Given the description of an element on the screen output the (x, y) to click on. 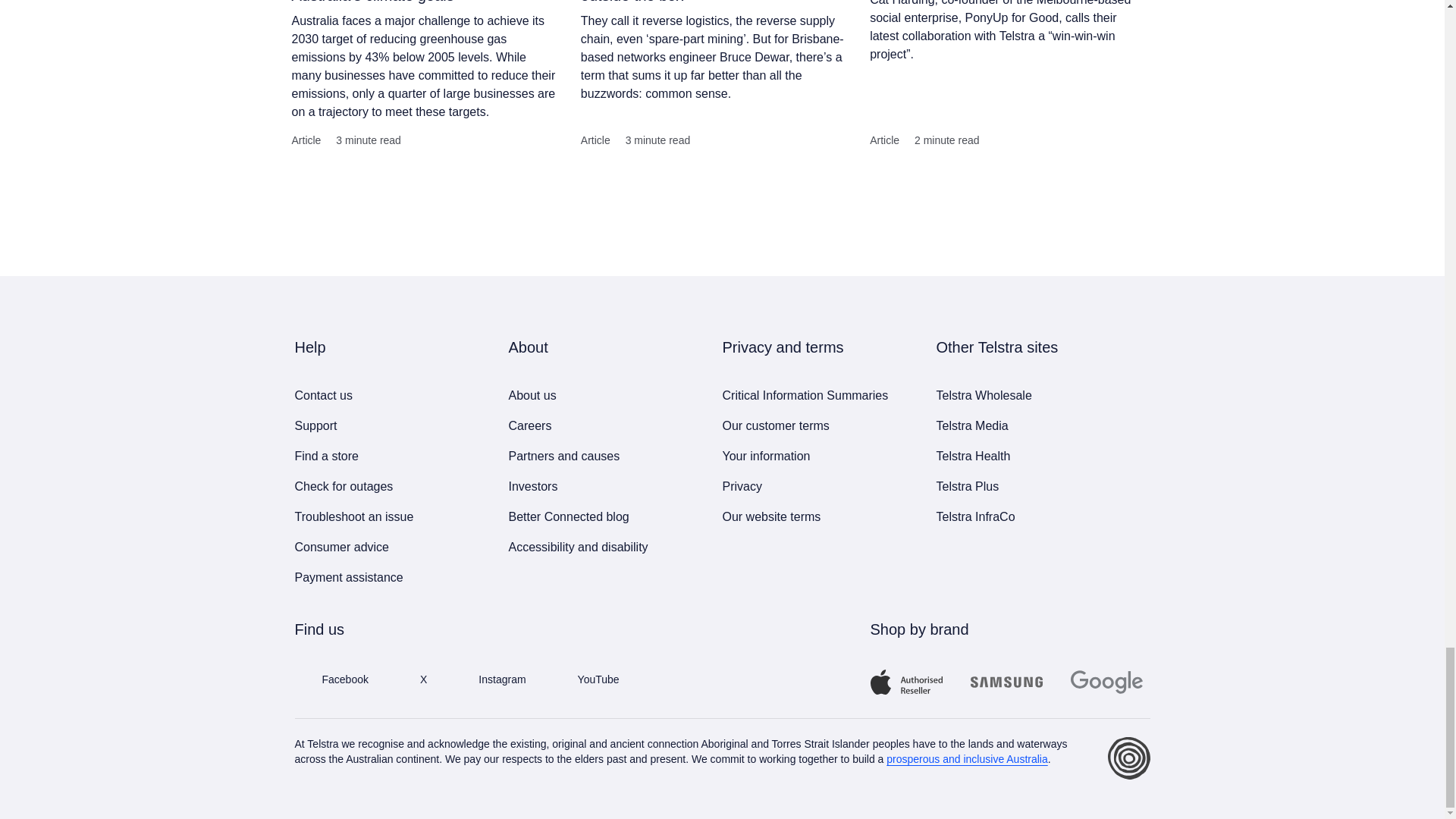
About us (602, 397)
Support (388, 427)
Payment assistance (388, 579)
Consumer advice (388, 518)
Find a store (388, 548)
Check for outages (388, 458)
Contact us (388, 488)
Careers (388, 397)
